Given the description of an element on the screen output the (x, y) to click on. 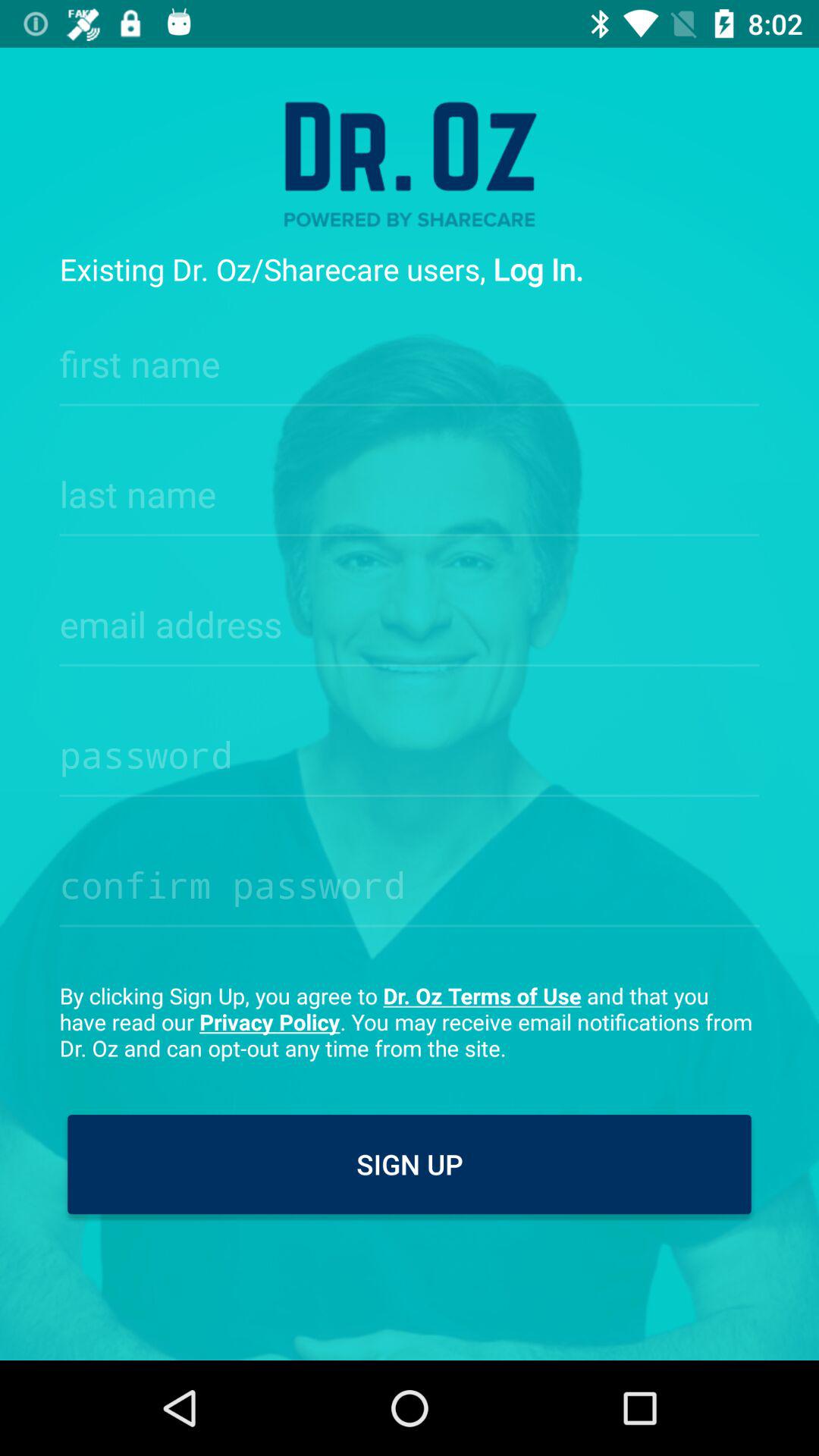
type password (409, 880)
